Given the description of an element on the screen output the (x, y) to click on. 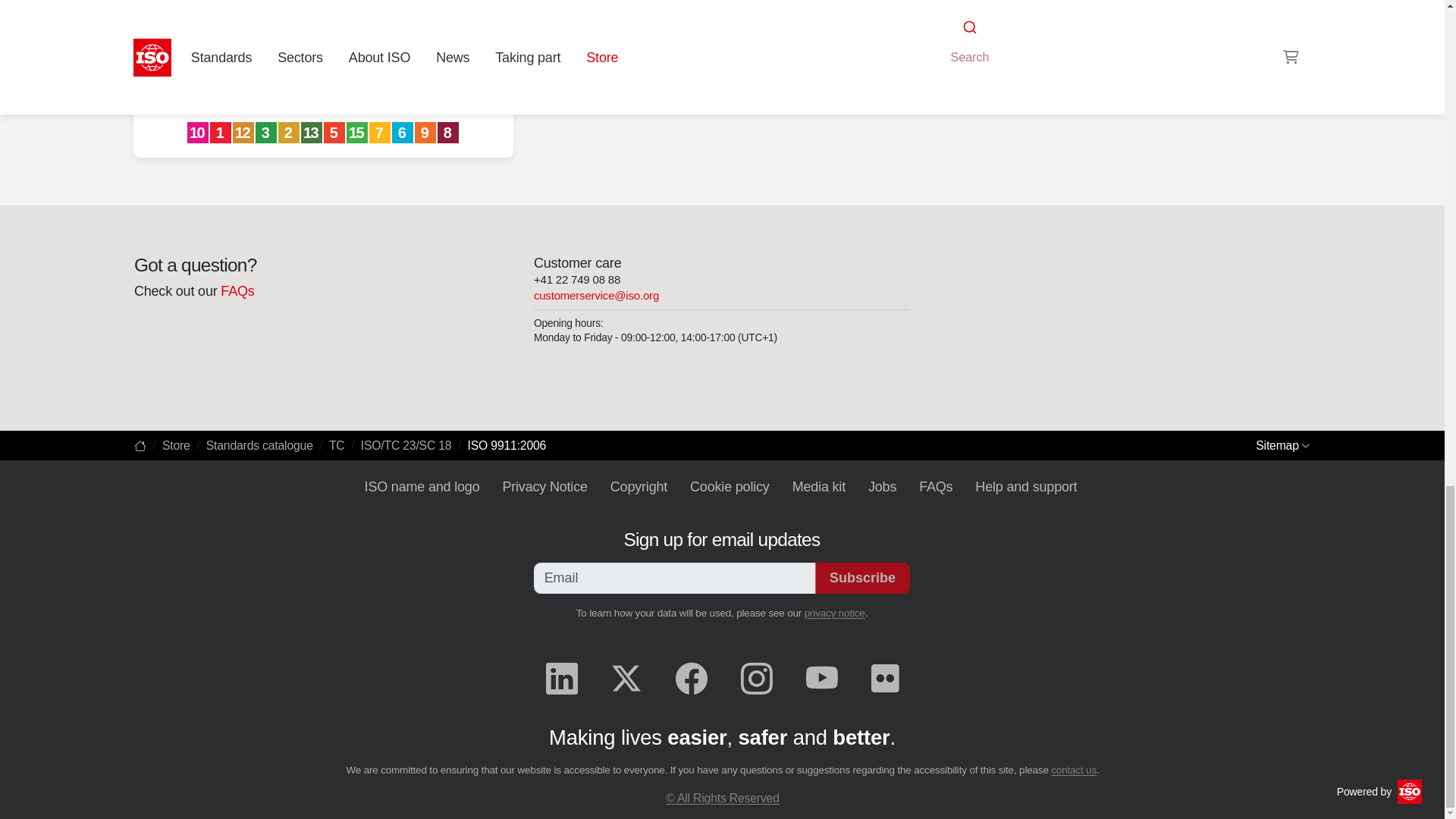
No Poverty (220, 133)
Reduced Inequalities (198, 133)
